Given the description of an element on the screen output the (x, y) to click on. 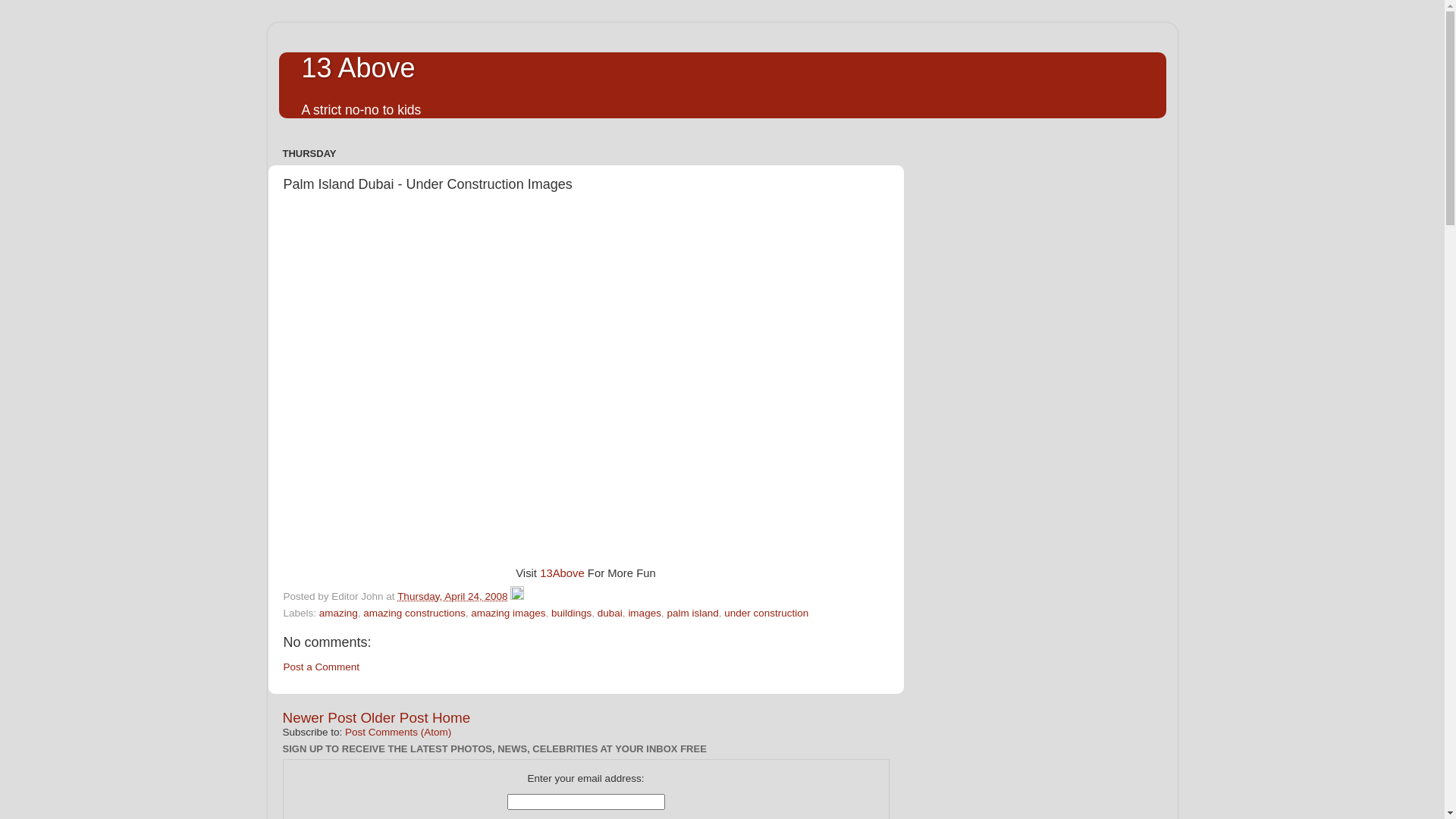
palm island Element type: text (692, 612)
Post a Comment Element type: text (321, 666)
under construction Element type: text (766, 612)
amazing constructions Element type: text (413, 612)
Newer Post Element type: text (319, 717)
dubai Element type: text (609, 612)
Edit Post Element type: hover (517, 596)
buildings Element type: text (571, 612)
13 Above Element type: text (358, 67)
Thursday, April 24, 2008 Element type: text (452, 596)
13Above Element type: text (561, 573)
amazing images Element type: text (507, 612)
Home Element type: text (451, 717)
Older Post Element type: text (393, 717)
Post Comments (Atom) Element type: text (398, 731)
images Element type: text (644, 612)
amazing Element type: text (338, 612)
